Given the description of an element on the screen output the (x, y) to click on. 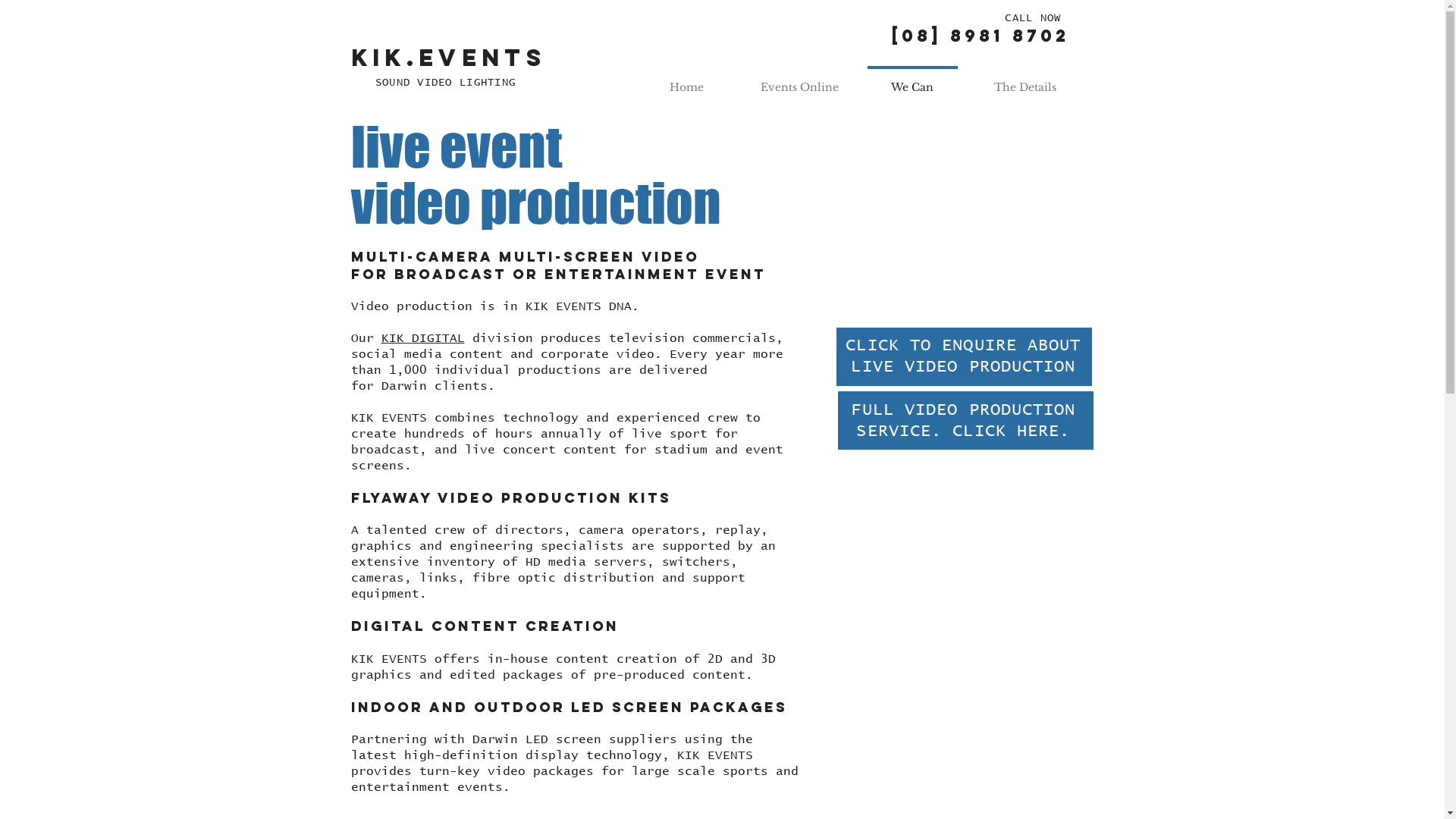
Events Online Element type: text (799, 79)
We Can Element type: text (911, 79)
The Details Element type: text (1025, 79)
KIK.EVENTS Element type: text (448, 58)
[08] 8981 8702 Element type: text (980, 36)
FULL VIDEO PRODUCTION SERVICE. CLICK HERE. Element type: text (962, 419)
CALL NOW Element type: text (1032, 17)
CLICK TO ENQUIRE ABOUT LIVE VIDEO PRODUCTION Element type: text (962, 355)
Home Element type: text (685, 79)
SOUND VIDEO LIGHTING Element type: text (445, 82)
KIK DIGITAL Element type: text (422, 338)
